Given the description of an element on the screen output the (x, y) to click on. 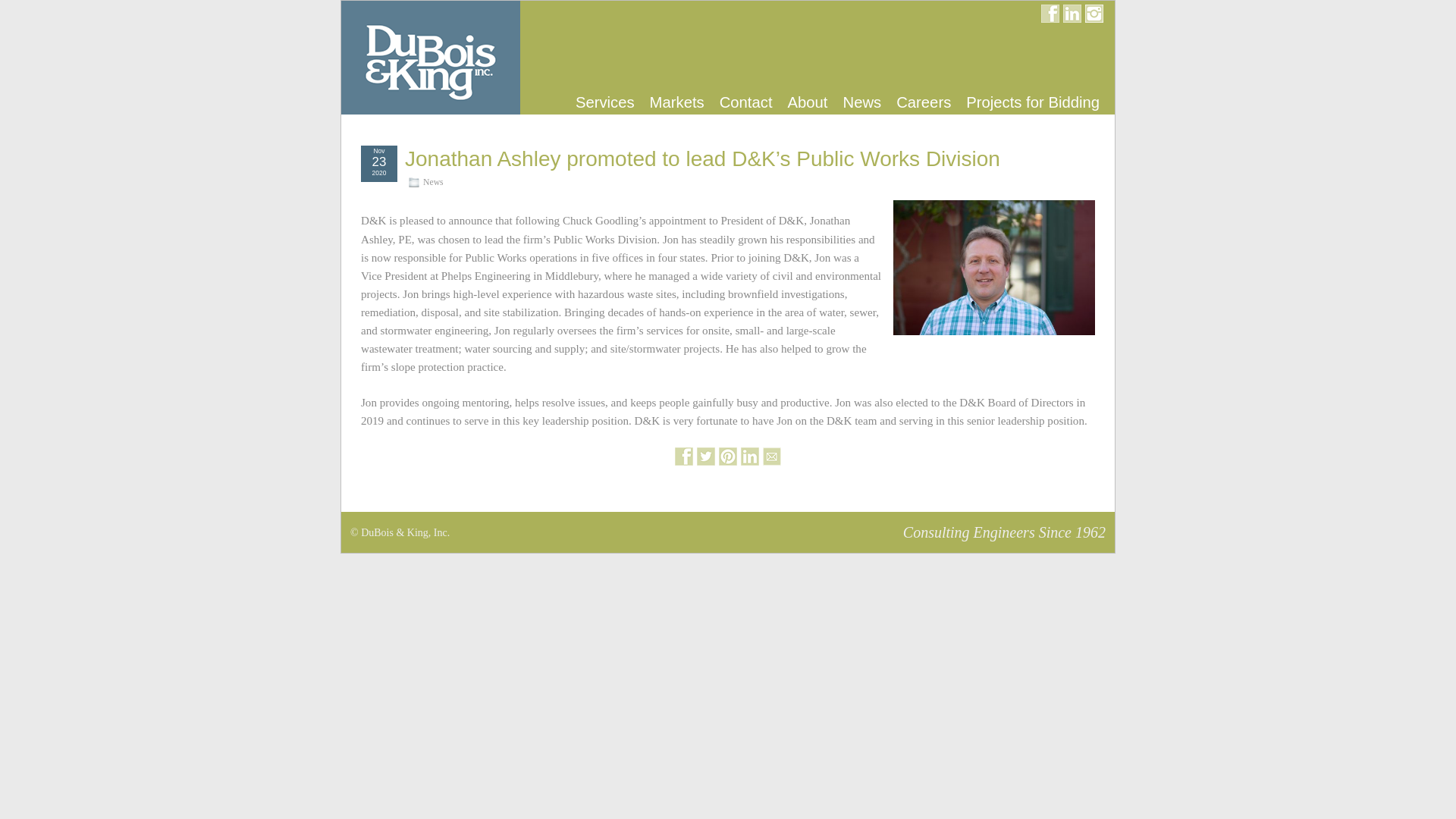
Share on Twitter (705, 456)
Check out our instagram feed (1093, 13)
Find us on Linkedin (1071, 13)
Follow us on Facebook (1050, 13)
Markets (677, 100)
Share on Facebook (684, 456)
Services (605, 100)
